Given the description of an element on the screen output the (x, y) to click on. 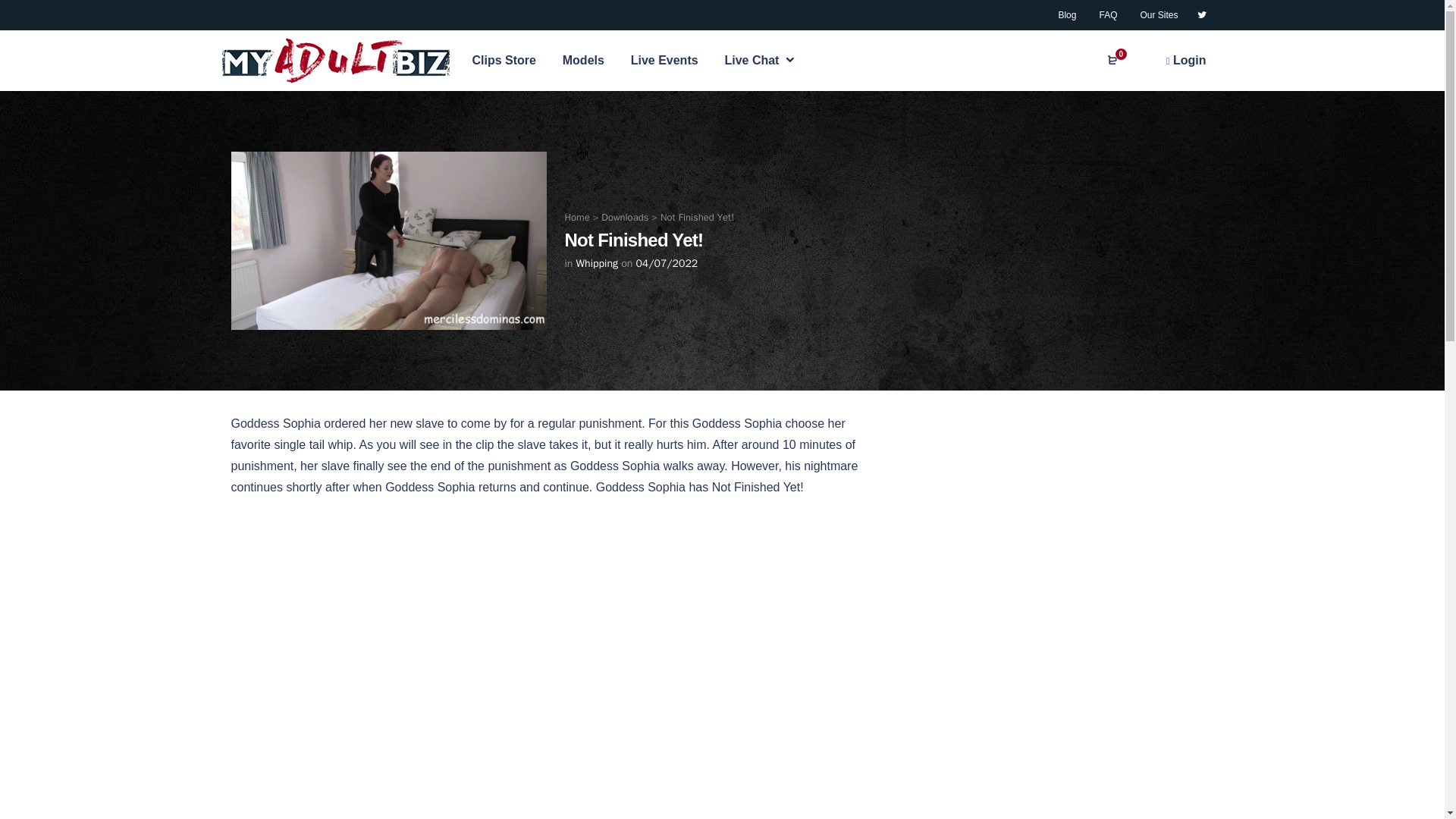
Home (576, 216)
Home (576, 216)
Our Sites (1158, 15)
Clips Store (504, 60)
Whipping (596, 263)
Live Chat (759, 59)
Downloads (624, 216)
Downloads (624, 216)
Login (1186, 61)
Live Events (665, 60)
